Given the description of an element on the screen output the (x, y) to click on. 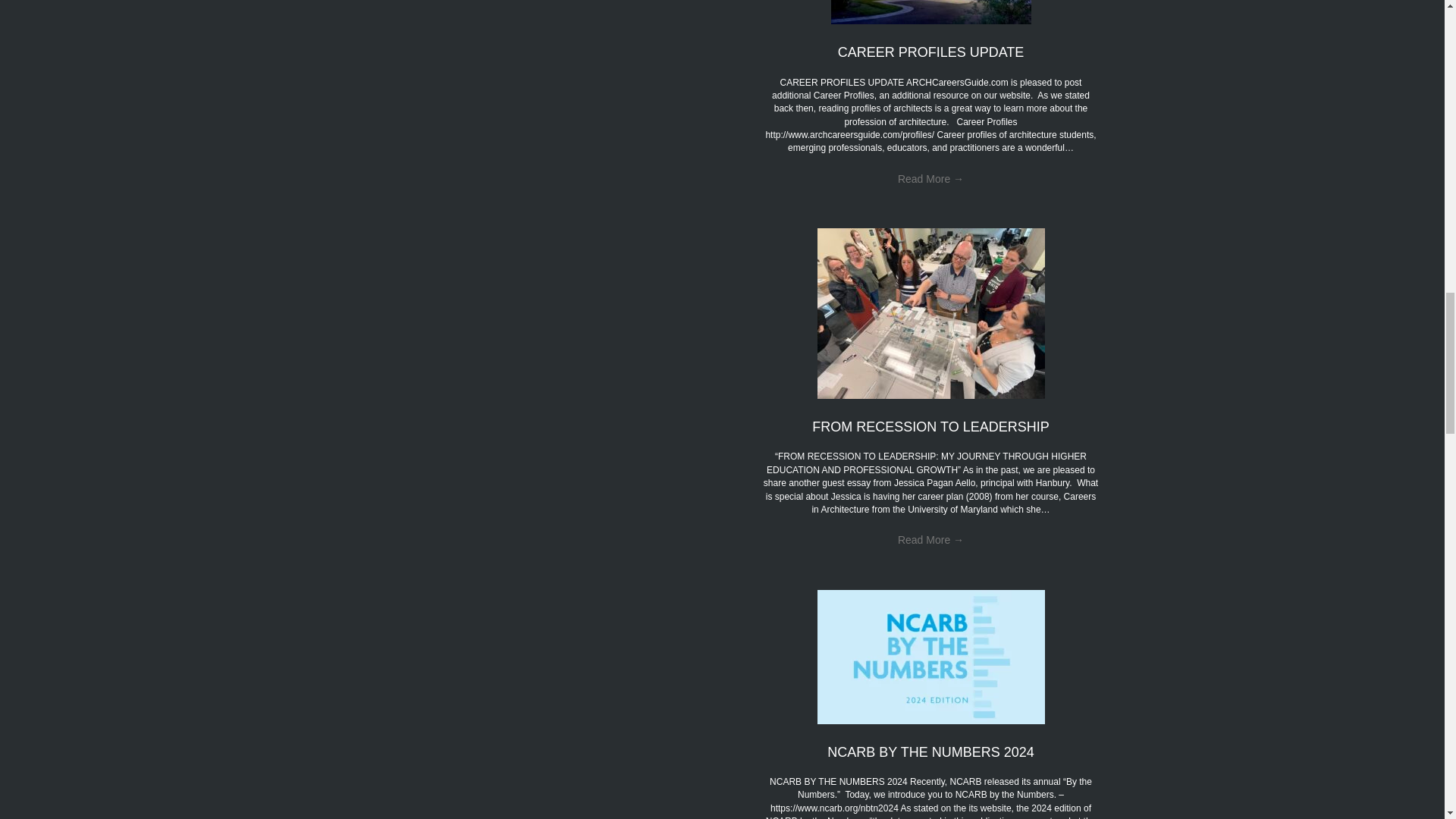
FROM RECESSION TO LEADERSHIP (930, 426)
NCARB BY THE NUMBERS 2024 (930, 752)
NCARB BY THE NUMBERS 2024 (930, 655)
FROM RECESSION TO LEADERSHIP (930, 312)
CAREER PROFILES UPDATE (931, 52)
